Given the description of an element on the screen output the (x, y) to click on. 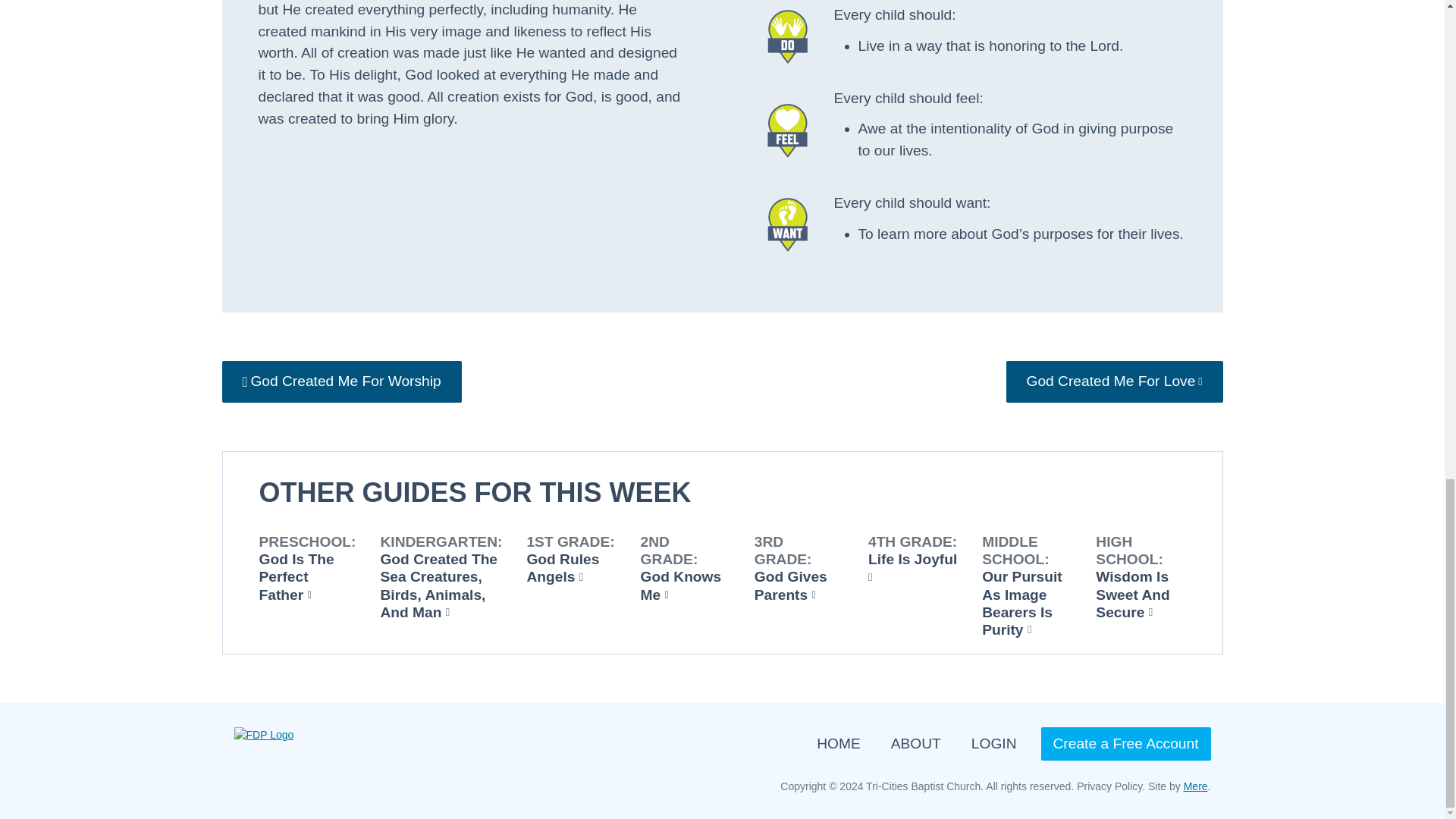
God Is The Perfect Father (296, 576)
Mere (1195, 786)
LOGIN (994, 744)
ABOUT (916, 744)
God Knows Me (681, 584)
Create a Free Account (1126, 744)
Life Is Joyful (911, 567)
Wisdom Is Sweet And Secure (1132, 593)
God Gives Parents (790, 584)
God Created Me For Love (1114, 382)
